Given the description of an element on the screen output the (x, y) to click on. 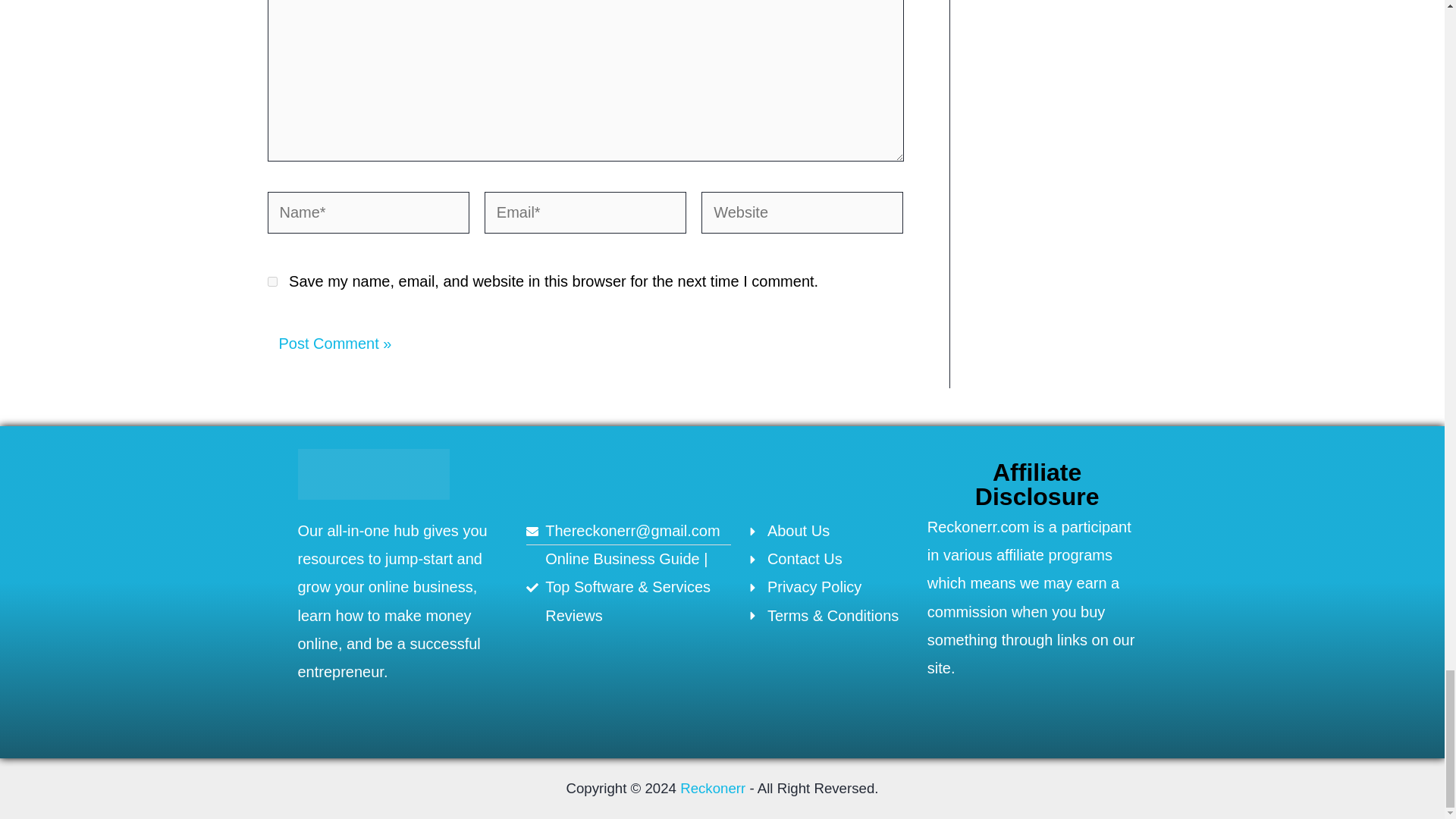
yes (271, 281)
